Given the description of an element on the screen output the (x, y) to click on. 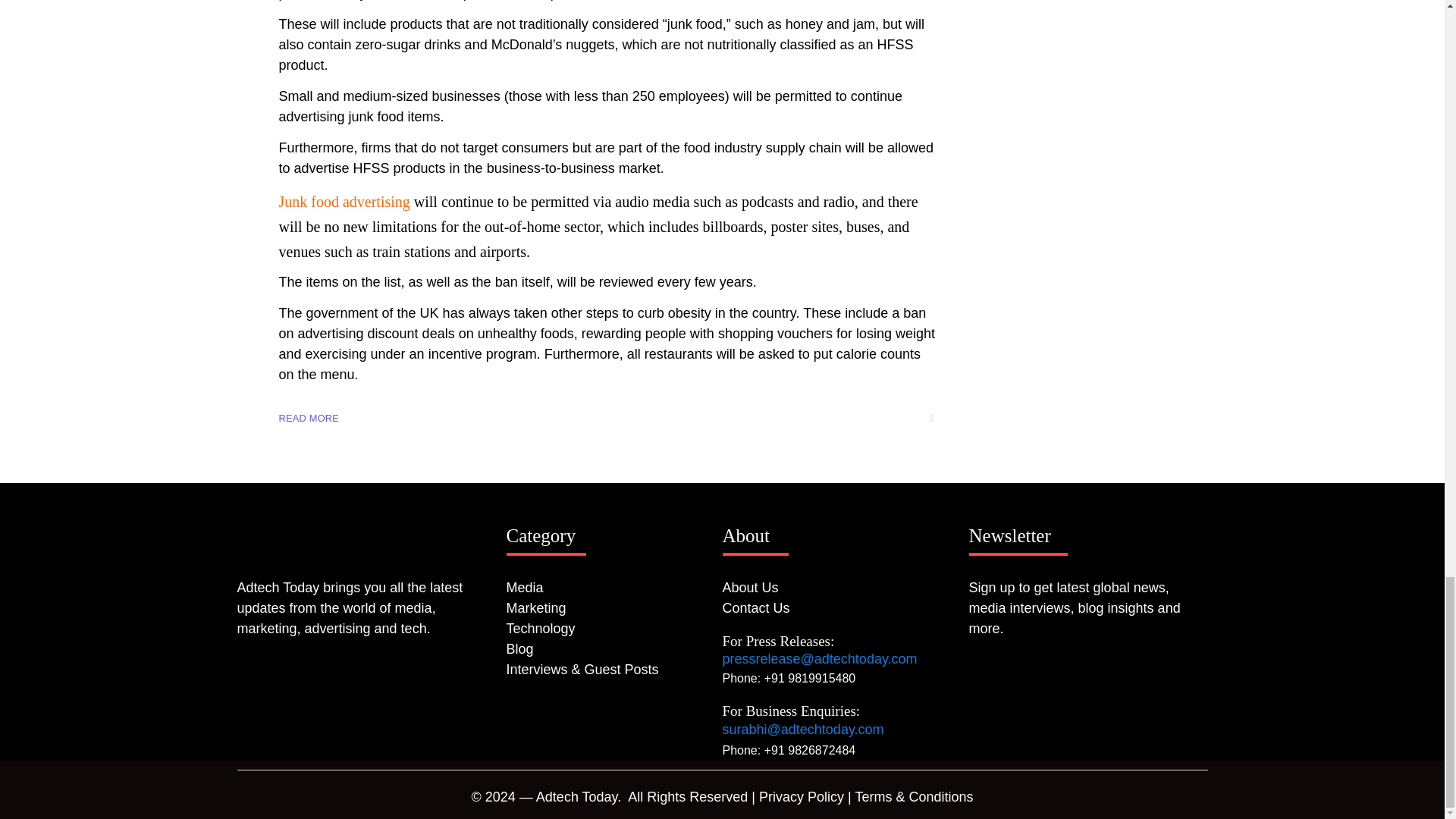
Media (614, 588)
Junk food advertising (344, 201)
READ MORE (309, 417)
